Given the description of an element on the screen output the (x, y) to click on. 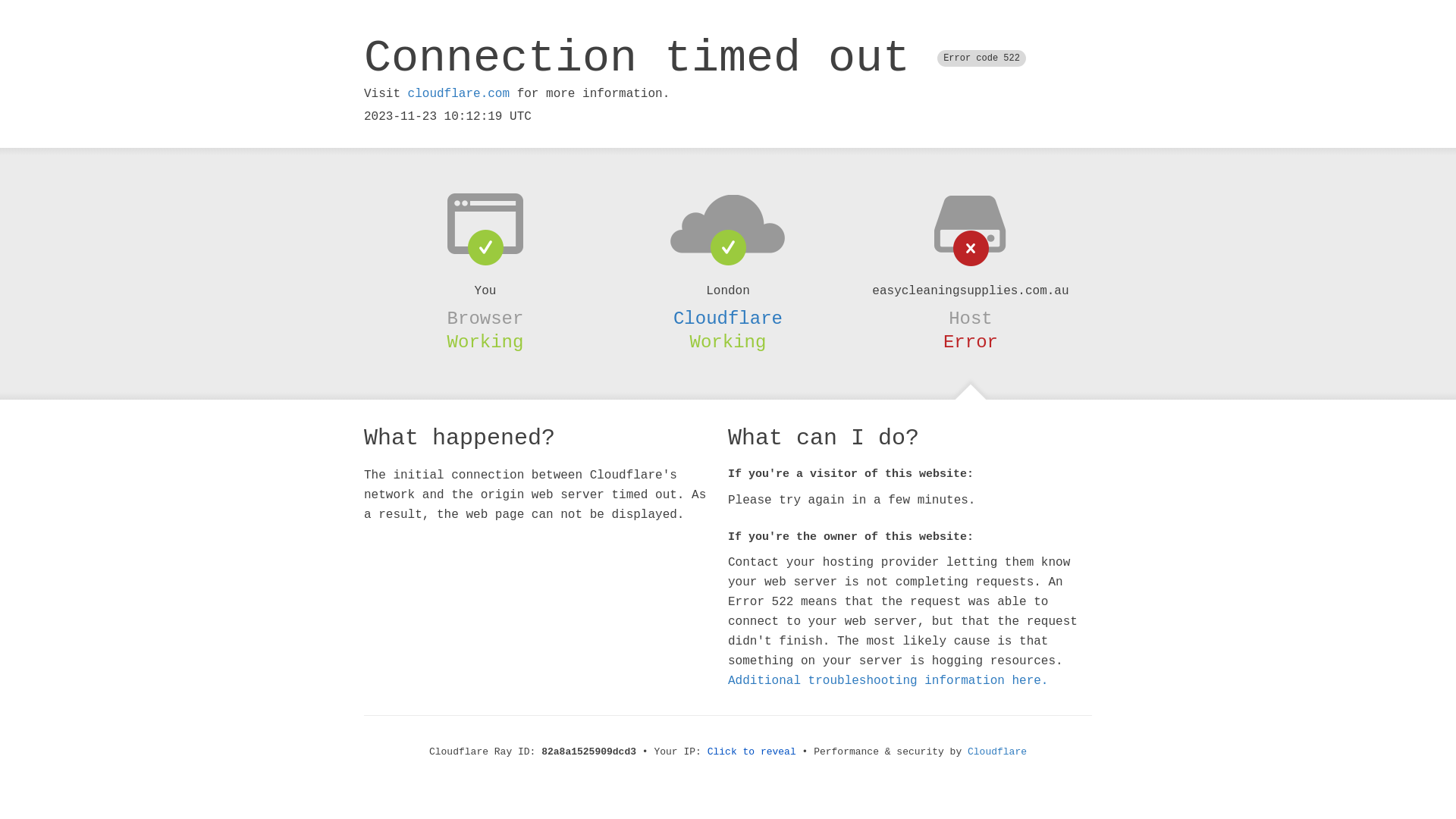
cloudflare.com Element type: text (458, 93)
Click to reveal Element type: text (751, 751)
Cloudflare Element type: text (996, 751)
Cloudflare Element type: text (727, 318)
Additional troubleshooting information here. Element type: text (888, 680)
